Given the description of an element on the screen output the (x, y) to click on. 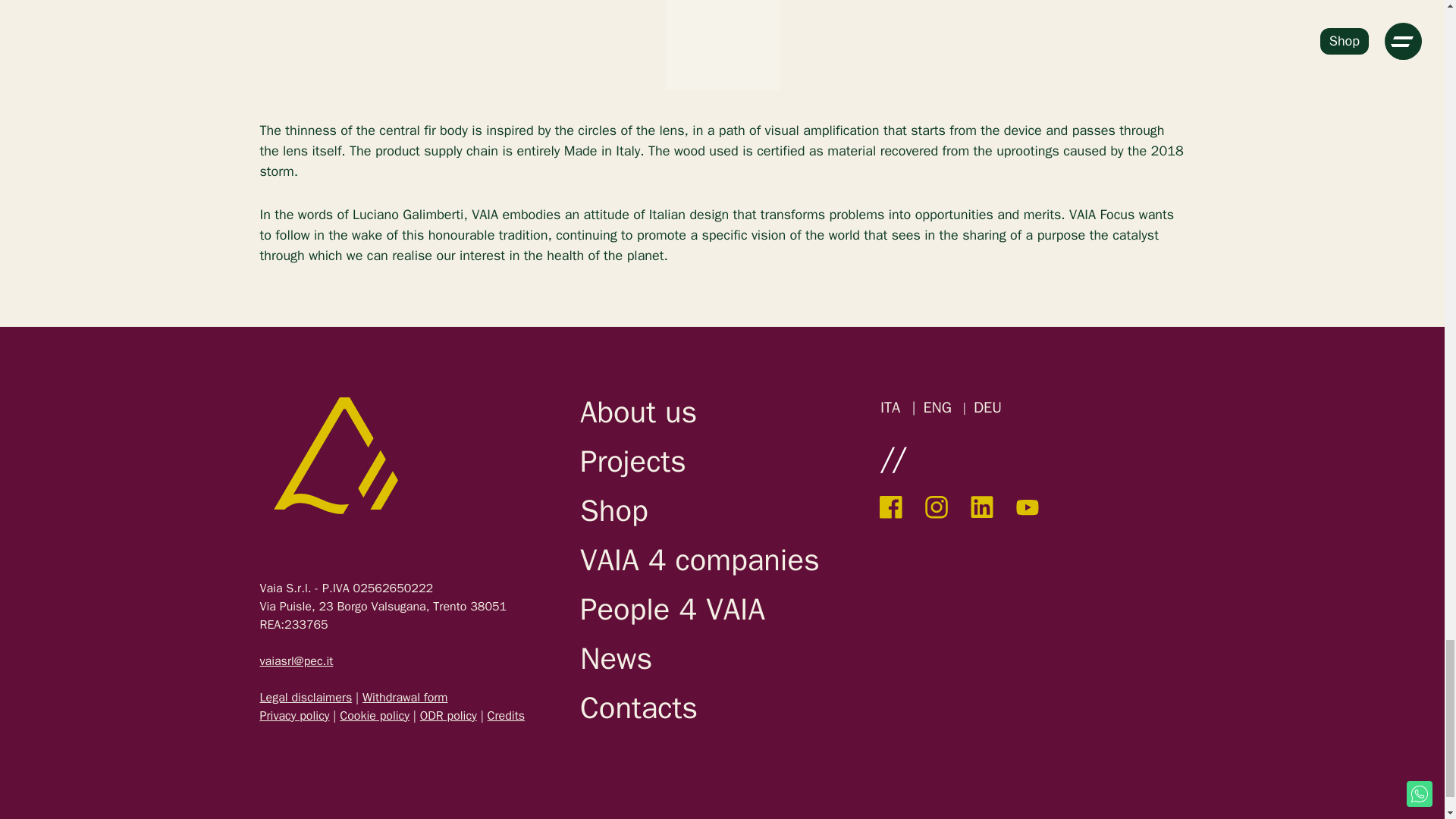
Cookie policy (374, 715)
ODR policy (448, 715)
Instagram (935, 507)
YouTube (1027, 507)
Piano D (506, 715)
Withdrawal form (404, 697)
Legal disclaimers (305, 697)
VAIAFace What Matters (334, 455)
Facebook (890, 507)
Privacy policy (294, 715)
Linkedin (981, 507)
